Given the description of an element on the screen output the (x, y) to click on. 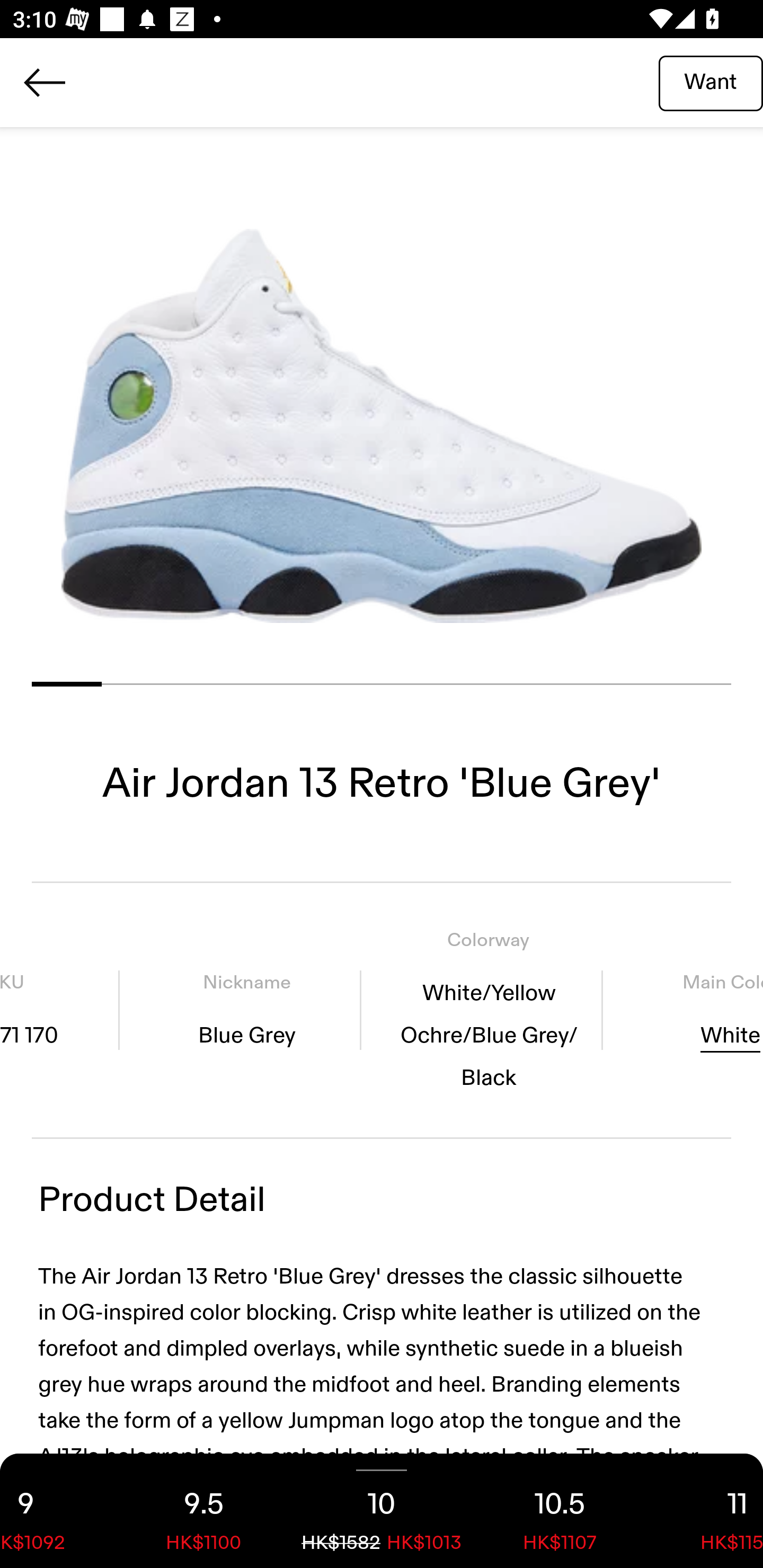
Want (710, 82)
Nickname Blue Grey (246, 1009)
Colorway White/Yellow Ochre/Blue Grey/Black (487, 1009)
9 HK$1092 (57, 1510)
9.5 HK$1100 (203, 1510)
10 HK$1582 HK$1013 (381, 1510)
10.5 HK$1107 (559, 1510)
11 HK$1155 (705, 1510)
